Given the description of an element on the screen output the (x, y) to click on. 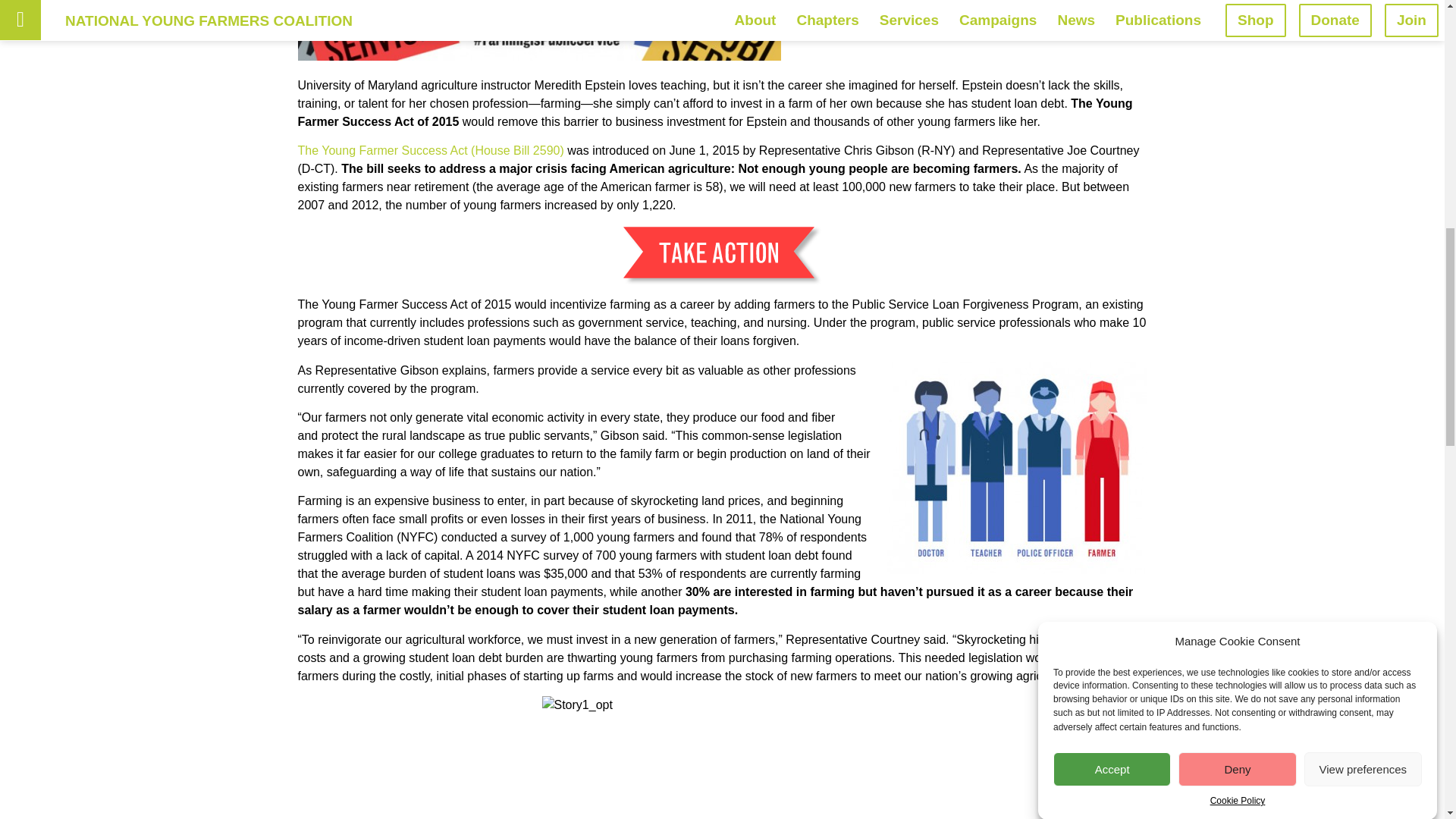
Accept (1111, 38)
View preferences (1363, 14)
Cookie Policy (1237, 8)
Deny (1236, 24)
